Given the description of an element on the screen output the (x, y) to click on. 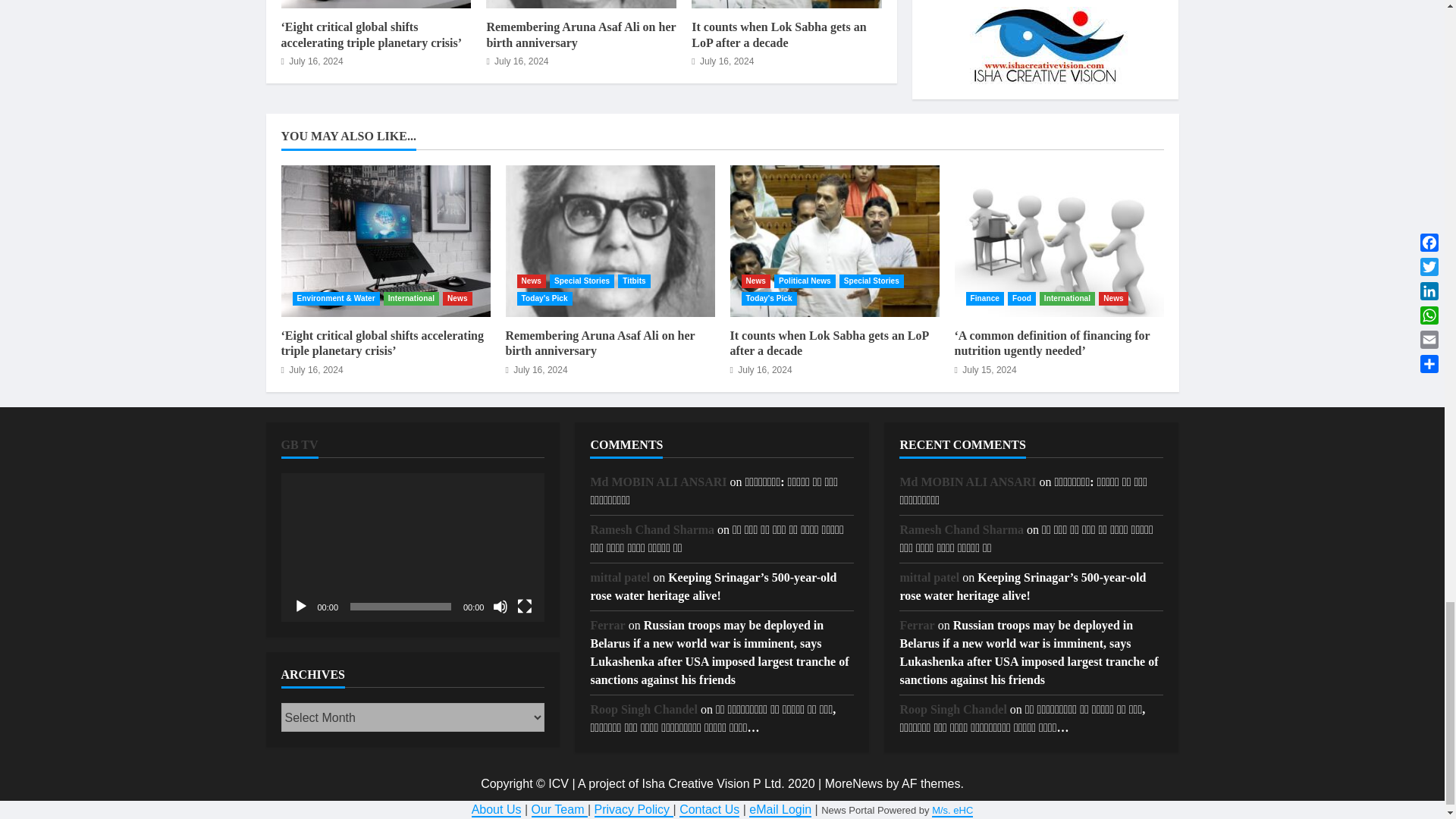
Fullscreen (524, 606)
Mute (500, 606)
Play (299, 606)
